Given the description of an element on the screen output the (x, y) to click on. 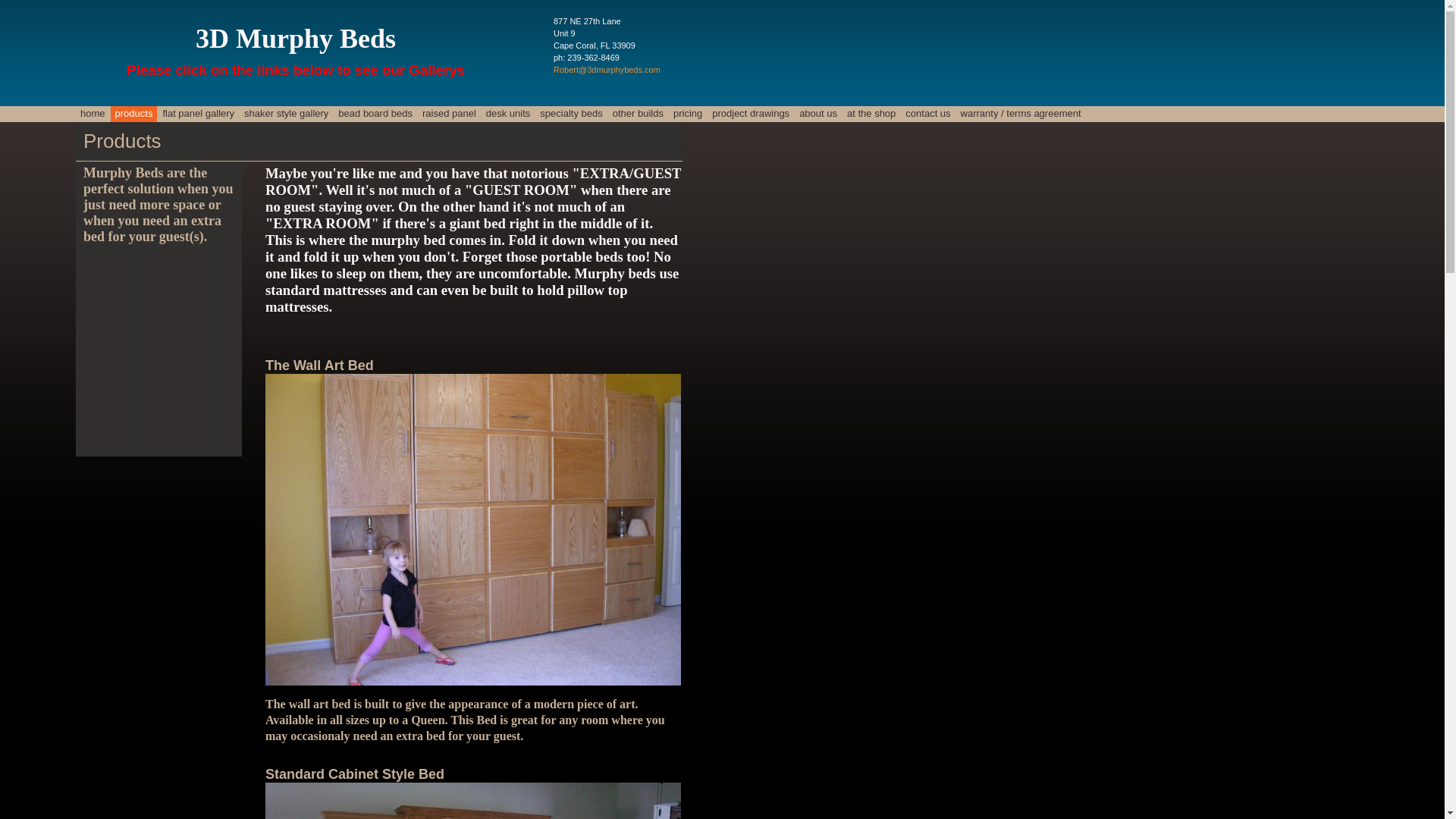
pricing Element type: text (687, 114)
other builds Element type: text (638, 114)
about us Element type: text (817, 114)
at the shop Element type: text (871, 114)
bead board beds Element type: text (375, 114)
desk units Element type: text (508, 114)
flat panel gallery Element type: text (197, 114)
home Element type: text (92, 114)
contact us Element type: text (927, 114)
products Element type: text (133, 114)
warranty / terms agreement Element type: text (1020, 114)
shaker style gallery Element type: text (285, 114)
raised panel Element type: text (448, 114)
specialty beds Element type: text (570, 114)
Robert@3dmurphybeds.com Element type: text (606, 69)
prodject drawings Element type: text (750, 114)
